Given the description of an element on the screen output the (x, y) to click on. 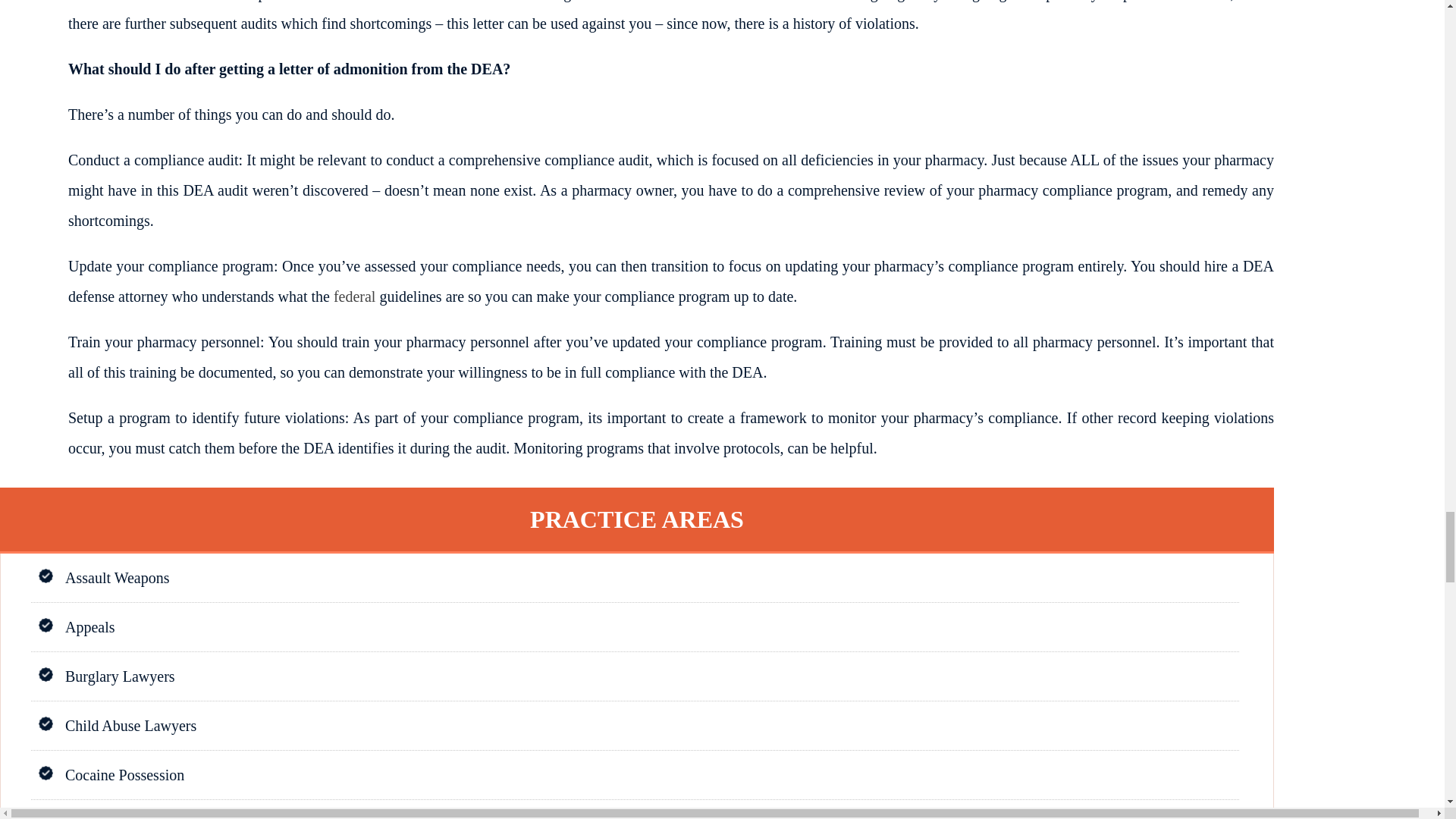
federal (354, 296)
